Given the description of an element on the screen output the (x, y) to click on. 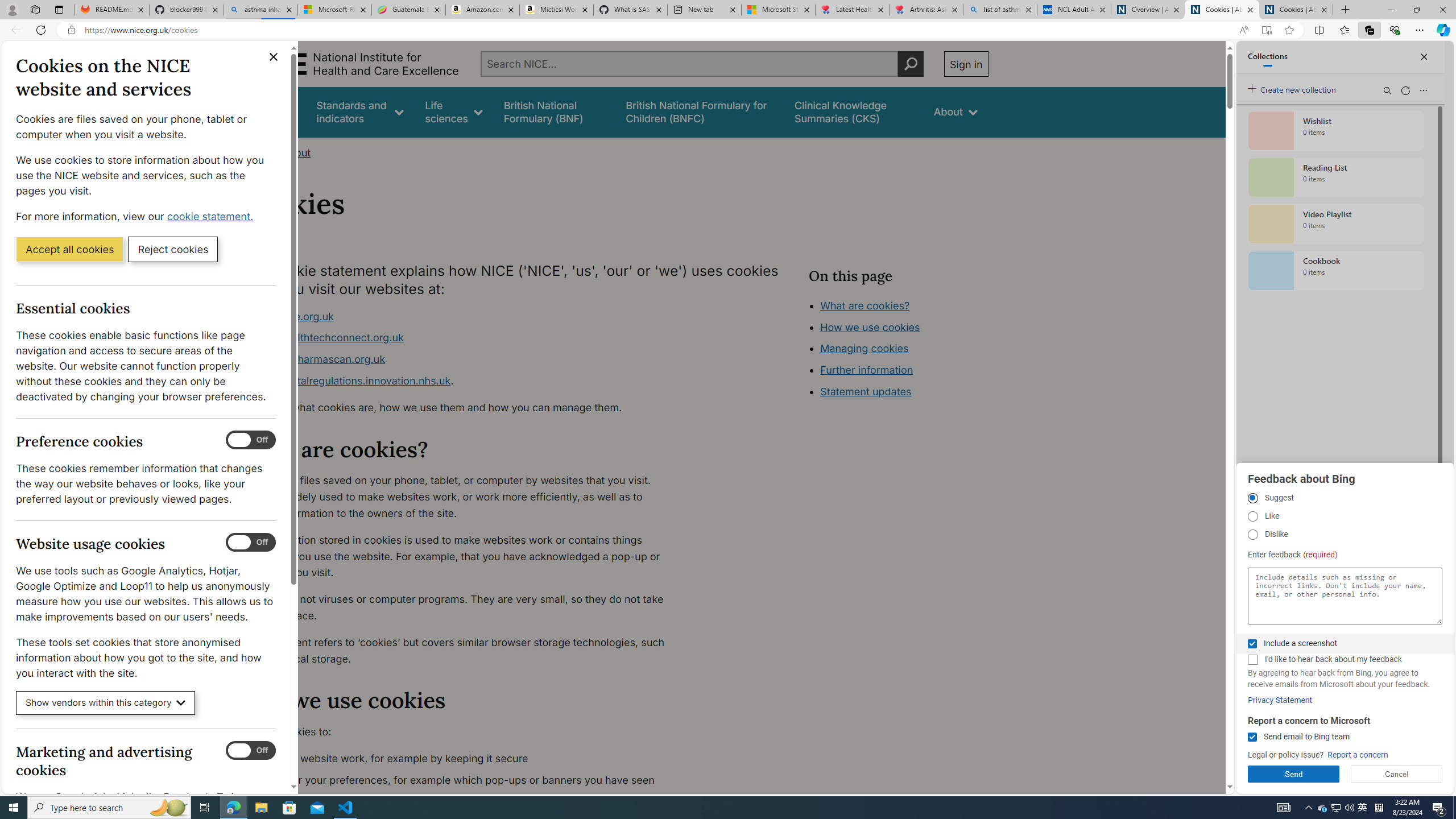
Show vendors within this category (105, 703)
